Given the description of an element on the screen output the (x, y) to click on. 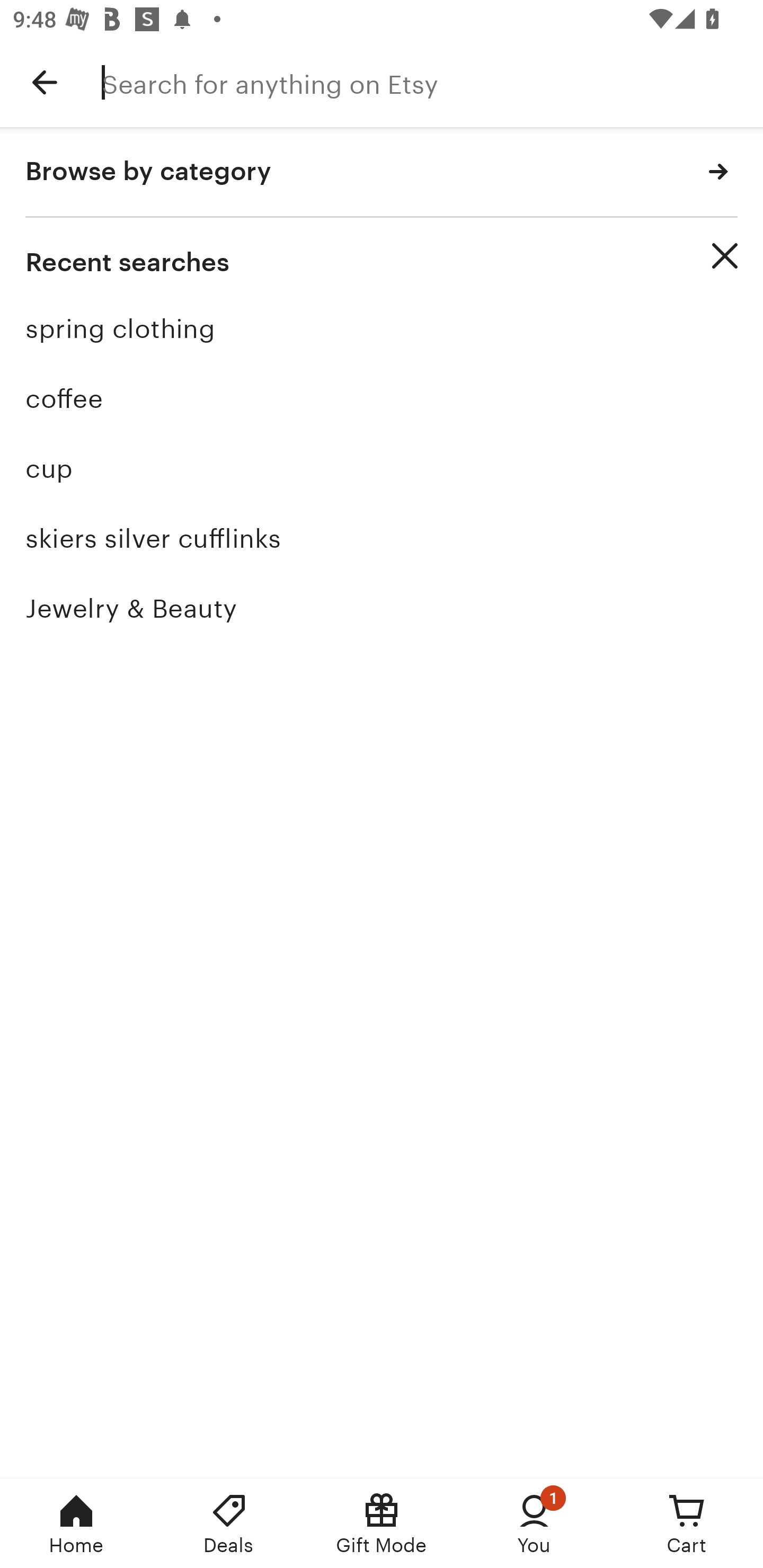
Navigate up (44, 82)
Search for anything on Etsy (432, 82)
Browse by category (381, 172)
Clear (724, 255)
spring clothing (381, 328)
coffee (381, 398)
cup (381, 468)
skiers silver cufflinks (381, 538)
Jewelry & Beauty (381, 607)
Deals (228, 1523)
Gift Mode (381, 1523)
You, 1 new notification You (533, 1523)
Cart (686, 1523)
